Given the description of an element on the screen output the (x, y) to click on. 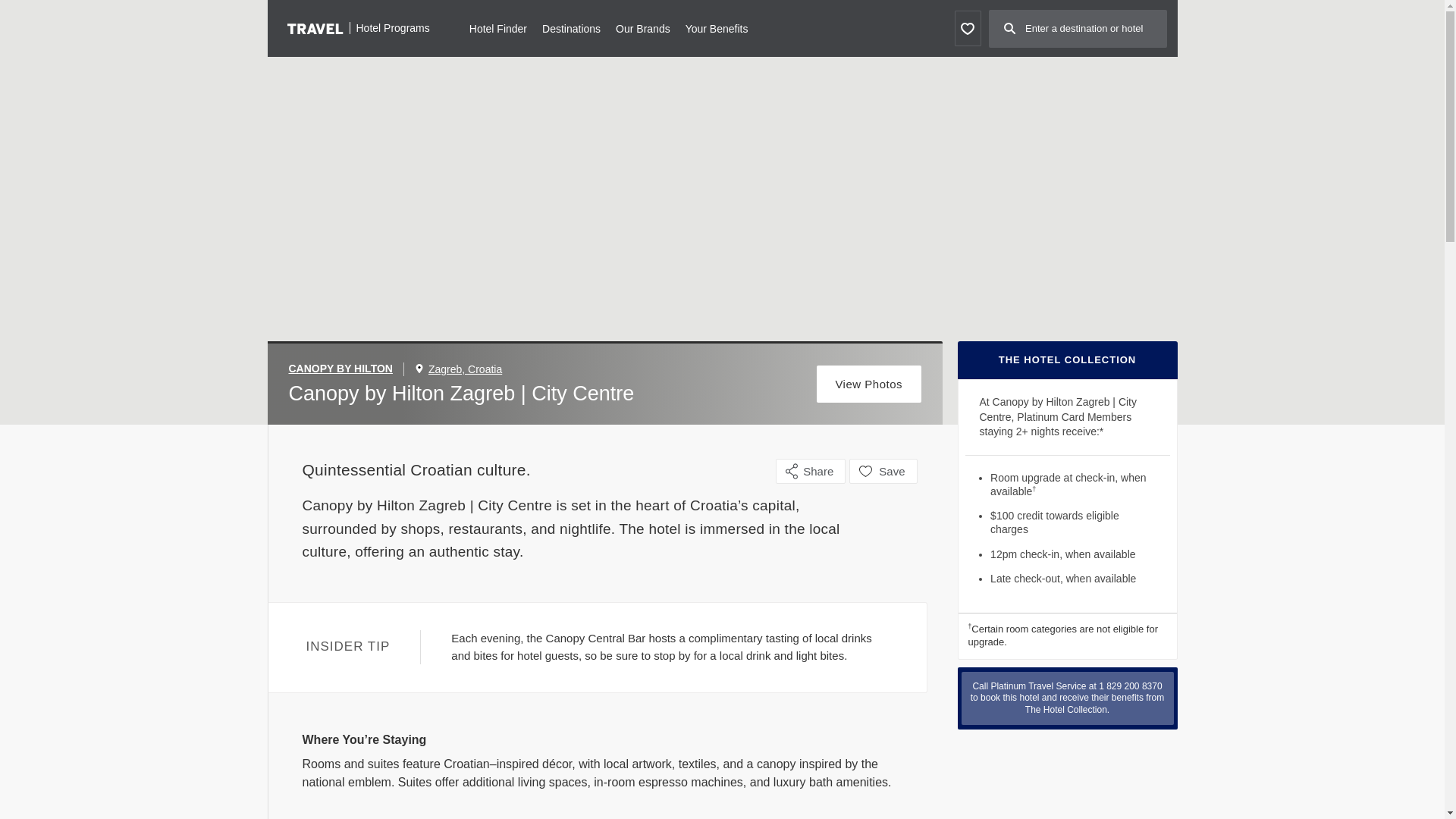
Zagreb, Croatia (465, 369)
Destinations (570, 27)
Our Brands (642, 27)
Share (810, 471)
Hotel Programs (357, 27)
Your Benefits (716, 27)
Favorites (966, 27)
Hotel Finder (497, 27)
Save (882, 471)
CANOPY BY HILTON (345, 368)
View Photos (868, 383)
